Given the description of an element on the screen output the (x, y) to click on. 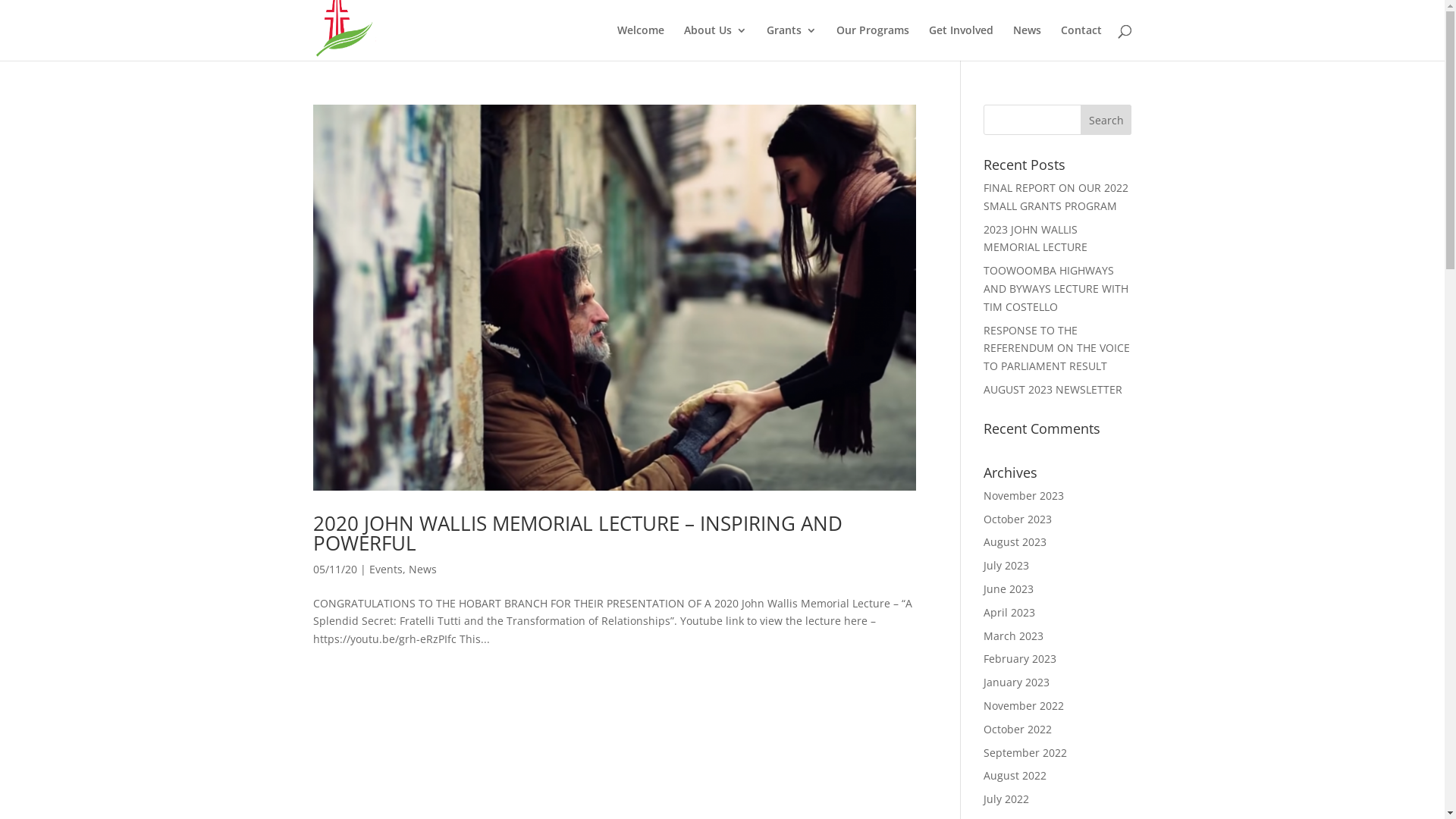
August 2022 Element type: text (1014, 775)
AUGUST 2023 NEWSLETTER Element type: text (1052, 389)
Welcome Element type: text (640, 42)
News Element type: text (1027, 42)
RESPONSE TO THE REFERENDUM ON THE VOICE TO PARLIAMENT RESULT Element type: text (1056, 348)
July 2022 Element type: text (1006, 798)
June 2023 Element type: text (1008, 588)
Search Element type: text (1106, 119)
FINAL REPORT ON OUR 2022 SMALL GRANTS PROGRAM Element type: text (1055, 196)
March 2023 Element type: text (1013, 635)
About Us Element type: text (715, 42)
August 2023 Element type: text (1014, 541)
Our Programs Element type: text (871, 42)
Events Element type: text (384, 568)
News Element type: text (421, 568)
November 2023 Element type: text (1023, 495)
November 2022 Element type: text (1023, 705)
April 2023 Element type: text (1009, 612)
February 2023 Element type: text (1019, 658)
Contact Element type: text (1080, 42)
July 2023 Element type: text (1006, 565)
Get Involved Element type: text (960, 42)
October 2023 Element type: text (1017, 518)
Grants Element type: text (790, 42)
September 2022 Element type: text (1024, 752)
January 2023 Element type: text (1016, 681)
TOOWOOMBA HIGHWAYS AND BYWAYS LECTURE WITH TIM COSTELLO Element type: text (1055, 288)
2023 JOHN WALLIS MEMORIAL LECTURE Element type: text (1035, 238)
October 2022 Element type: text (1017, 728)
